Given the description of an element on the screen output the (x, y) to click on. 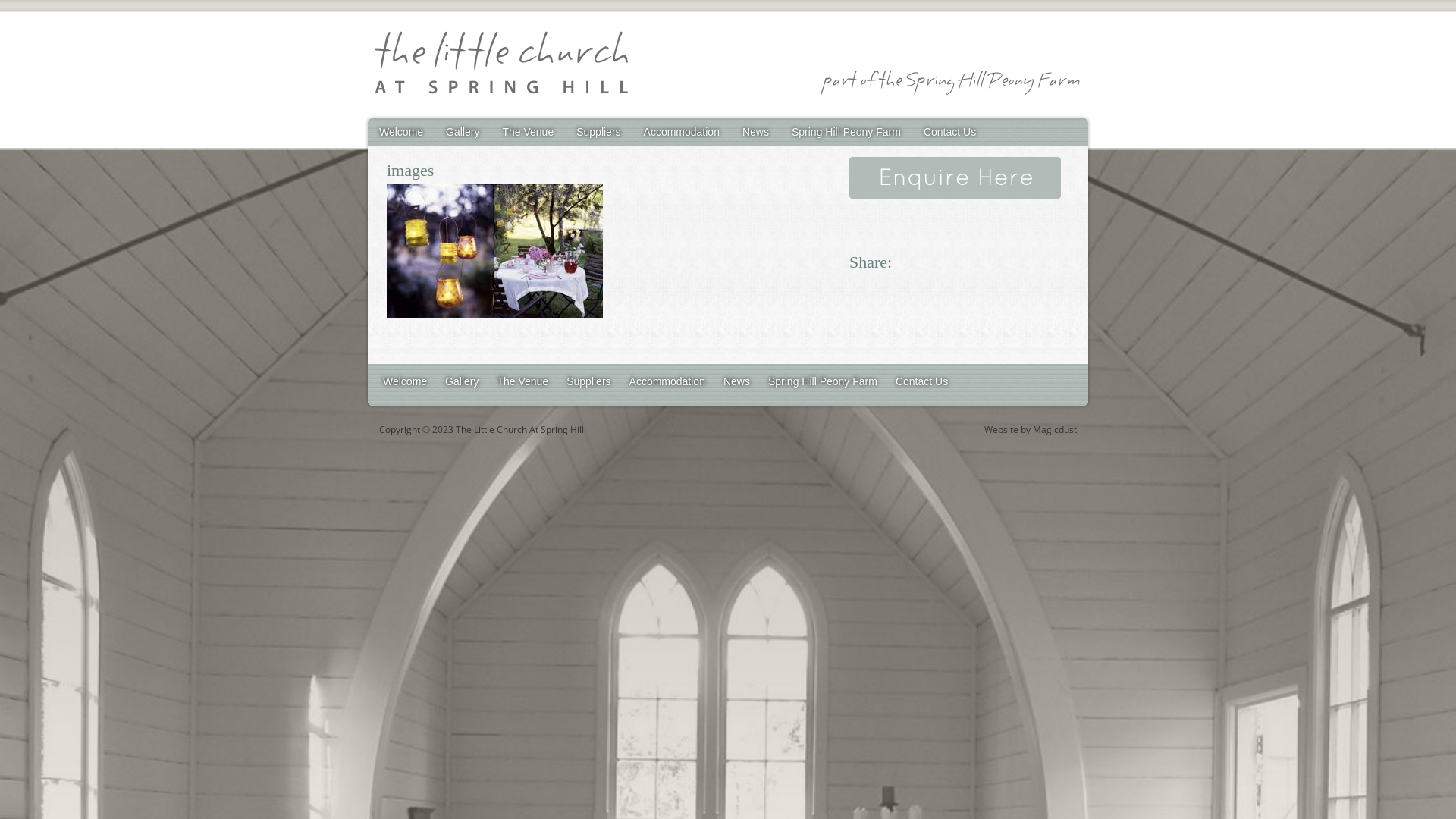
Spring Hill Peony Farm Element type: text (846, 131)
Gallery Element type: text (461, 381)
Accommodation Element type: text (681, 131)
News Element type: text (755, 131)
Contact Us Element type: text (921, 381)
The Venue Element type: text (522, 381)
Welcome Element type: text (404, 381)
News Element type: text (736, 381)
Suppliers Element type: text (597, 131)
The Little Church At Spring Hill Element type: text (500, 64)
Spring Hill Peony Farm Element type: text (822, 381)
Gallery Element type: text (462, 131)
Contact Us Element type: text (949, 131)
Welcome Element type: text (400, 131)
Suppliers Element type: text (588, 381)
The Venue Element type: text (527, 131)
Accommodation Element type: text (667, 381)
